Given the description of an element on the screen output the (x, y) to click on. 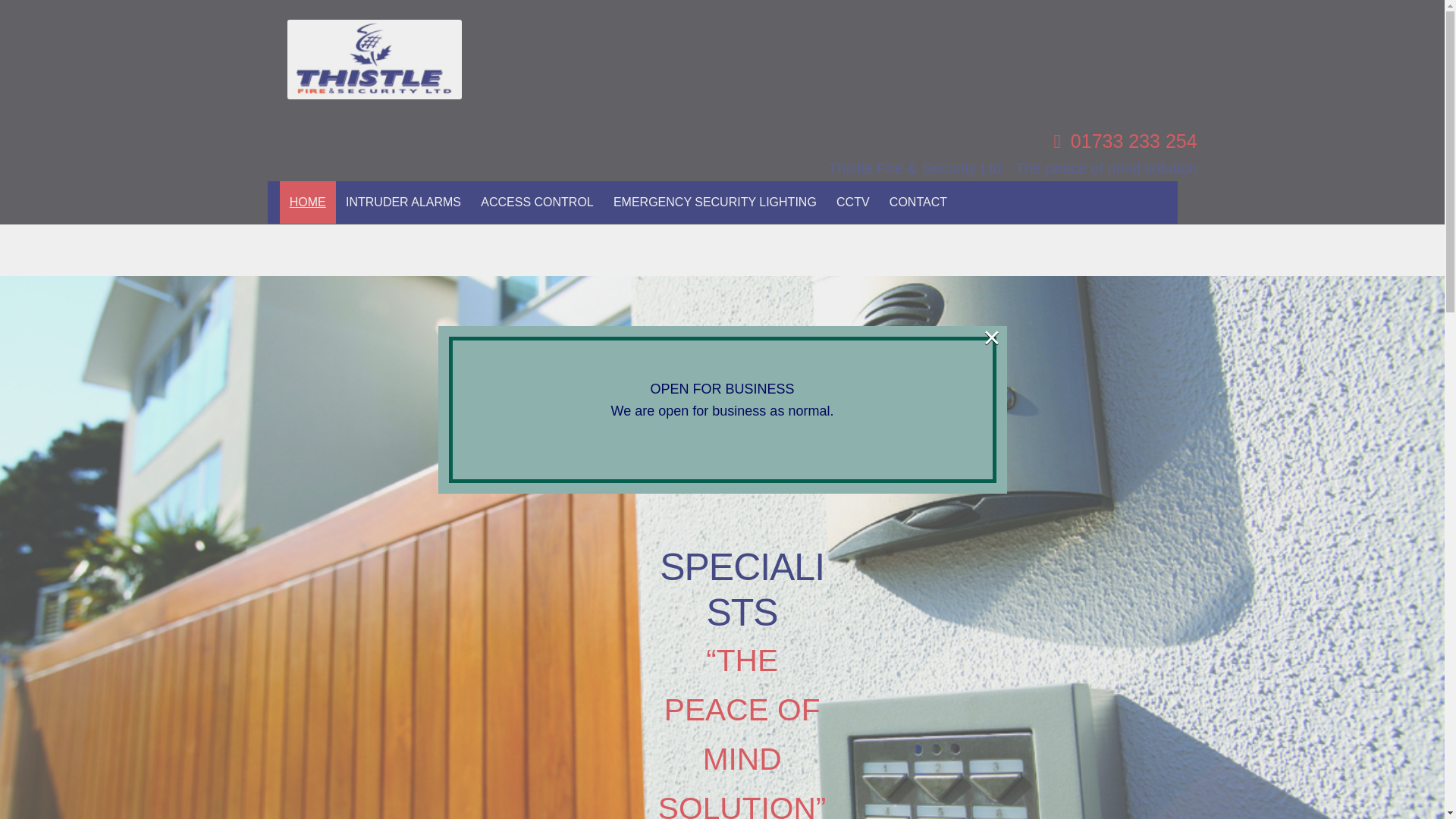
CONTACT (917, 201)
HOME (307, 201)
ACCESS CONTROL (537, 201)
01733 233 254 (1133, 140)
EMERGENCY SECURITY LIGHTING (715, 201)
INTRUDER ALARMS (403, 201)
CCTV (853, 201)
